Given the description of an element on the screen output the (x, y) to click on. 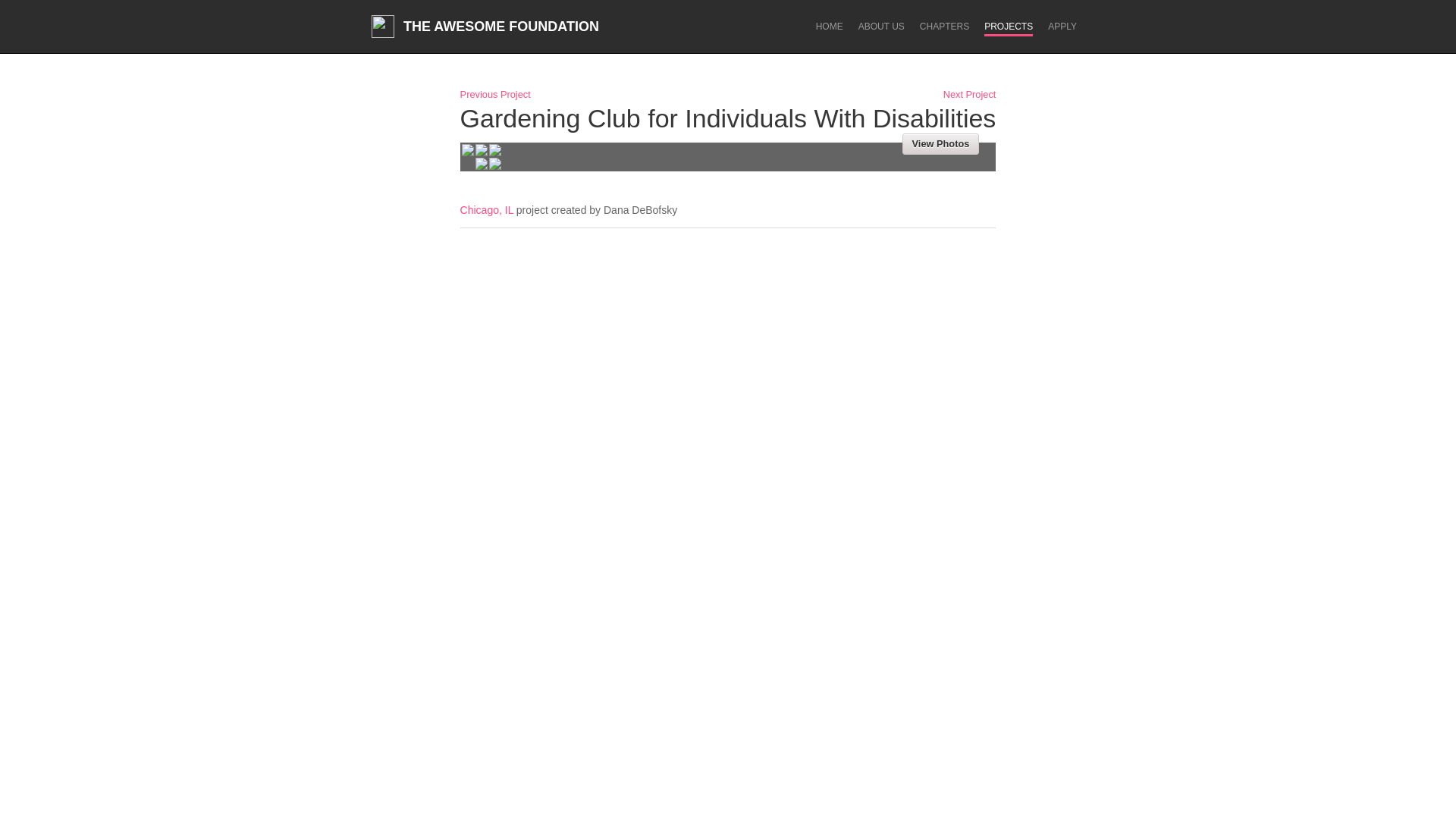
CHAPTERS (944, 27)
PROJECTS (1008, 28)
ABOUT US (881, 27)
APPLY (1062, 27)
HOME (829, 27)
